Given the description of an element on the screen output the (x, y) to click on. 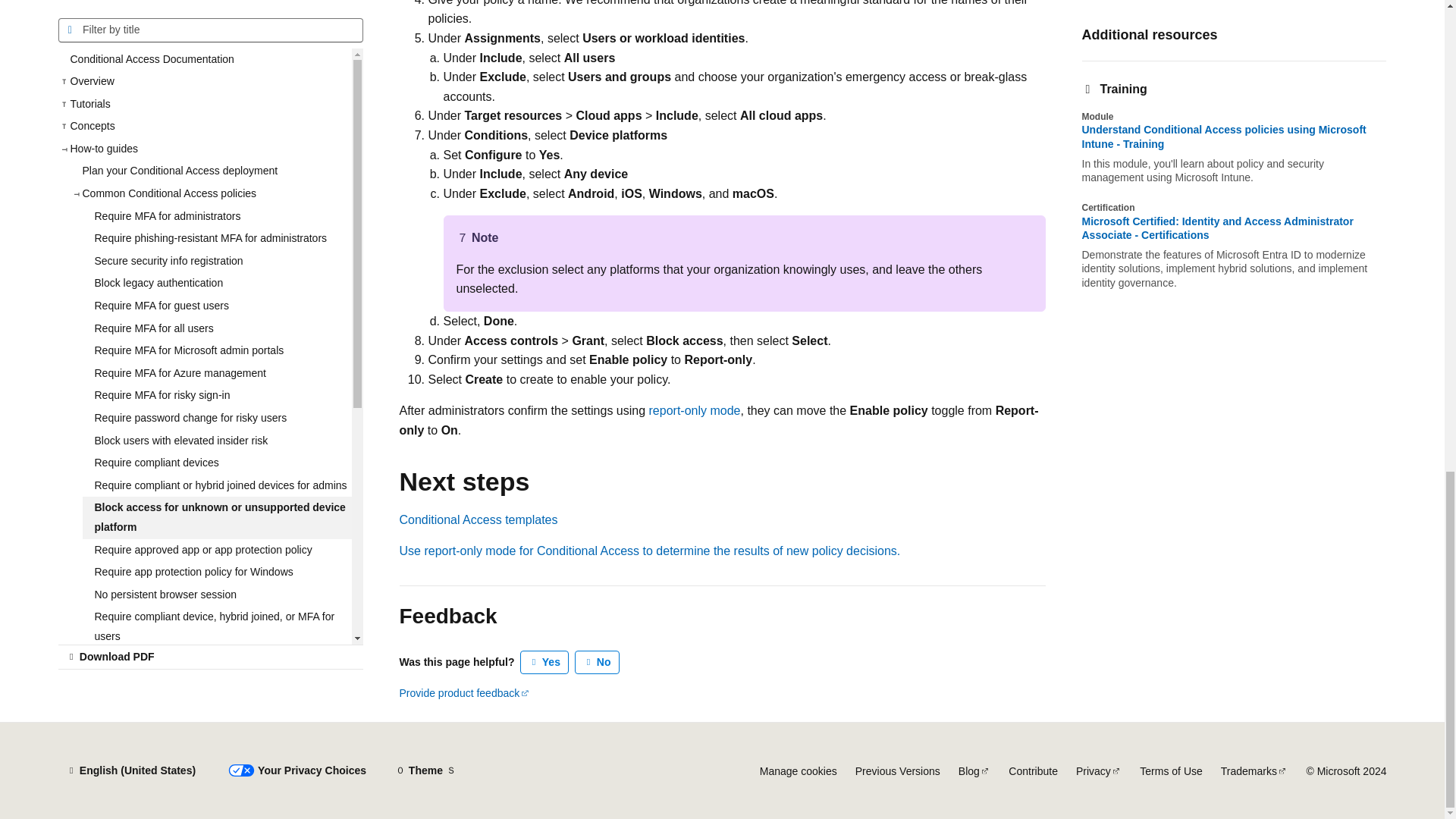
This article is helpful (544, 662)
Theme (425, 770)
This article is not helpful (597, 662)
